Given the description of an element on the screen output the (x, y) to click on. 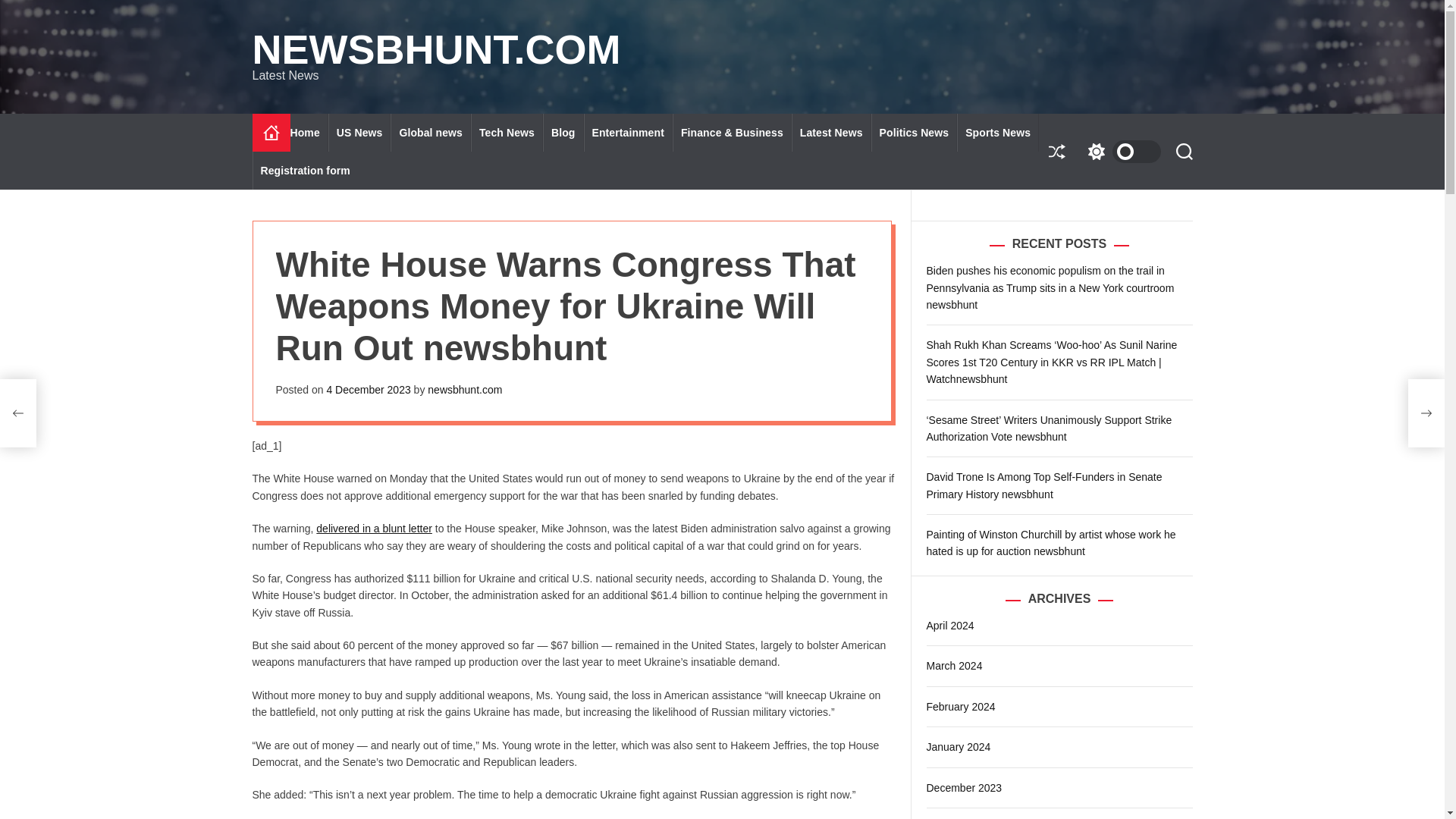
4 December 2023 (368, 389)
Home (308, 132)
Registration form (303, 170)
delivered in a blunt letter (373, 528)
US News (360, 132)
Latest News (831, 132)
Politics News (914, 132)
Sports News (997, 132)
Tech News (506, 132)
Switch color mode (1120, 151)
newsbhunt.com (465, 389)
NEWSBHUNT.COM (435, 48)
Entertainment (627, 132)
Blog (563, 132)
Global news (430, 132)
